Given the description of an element on the screen output the (x, y) to click on. 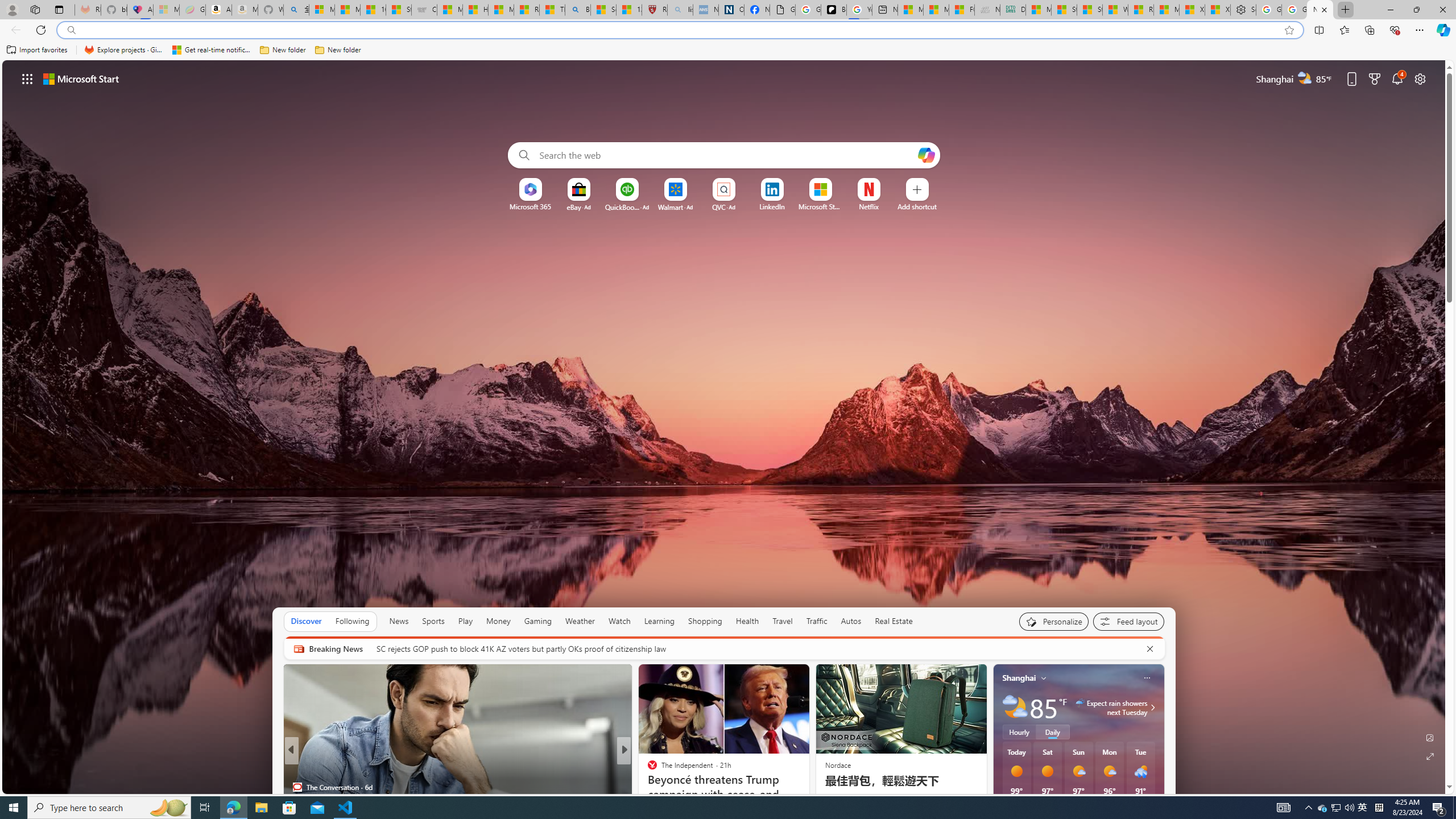
Class: icon-img (1146, 677)
My location (1043, 677)
Partly cloudy (1014, 707)
Partly cloudy (1014, 707)
